Given the description of an element on the screen output the (x, y) to click on. 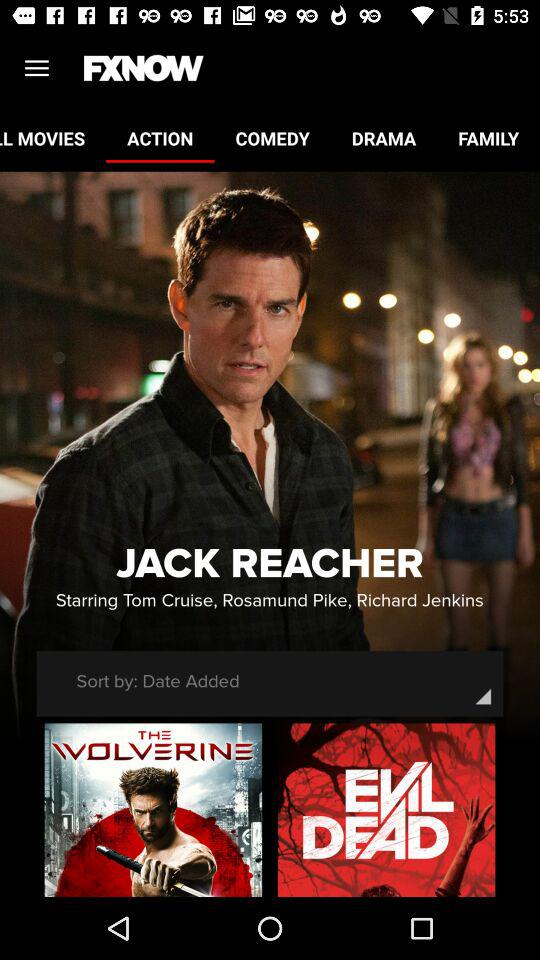
press item to the left of the action icon (53, 138)
